Given the description of an element on the screen output the (x, y) to click on. 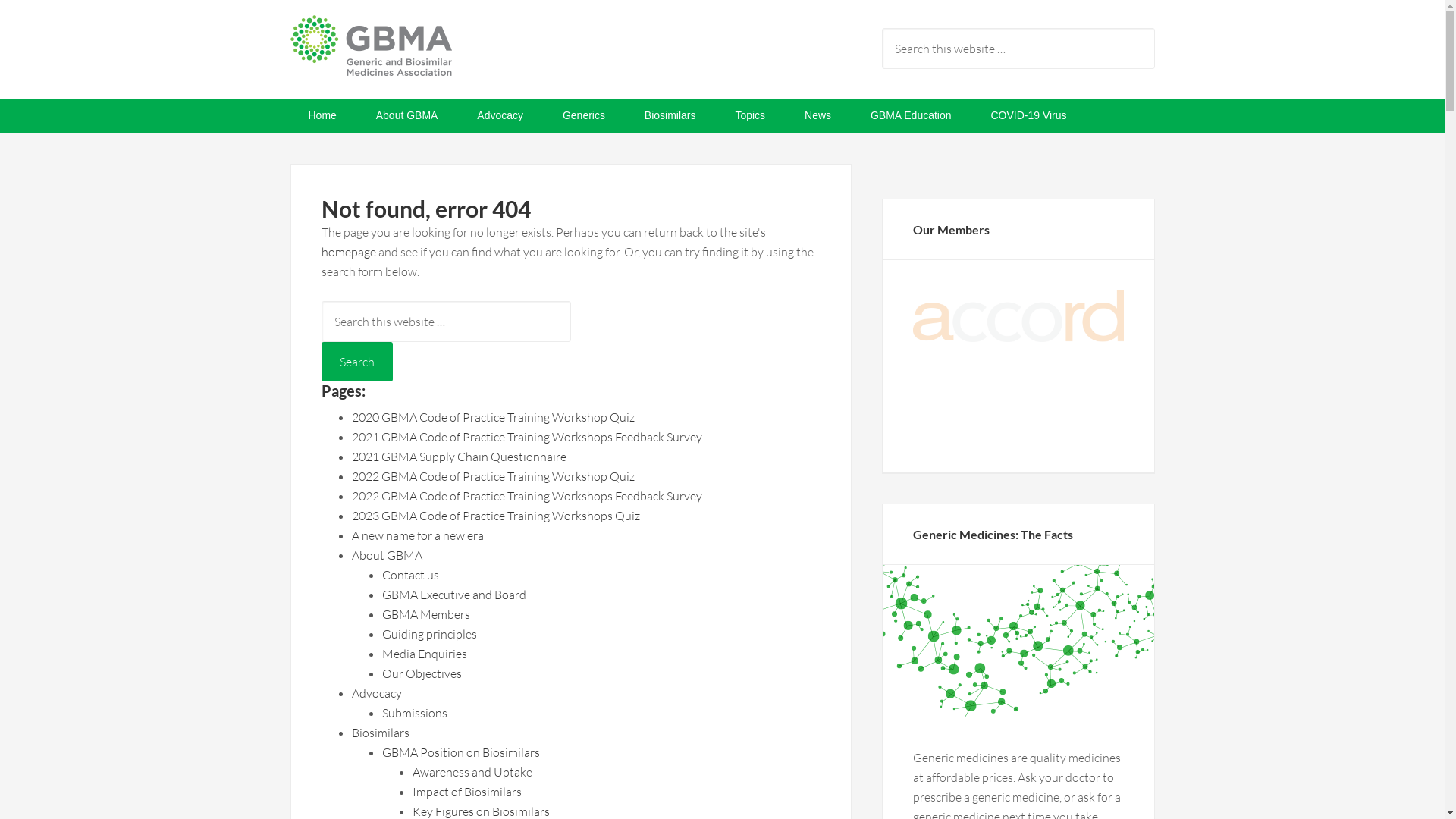
Our Objectives Element type: text (421, 672)
2020 GBMA Code of Practice Training Workshop Quiz Element type: text (492, 416)
Submissions Element type: text (414, 712)
GBMA Education Element type: text (910, 115)
Media Enquiries Element type: text (424, 653)
About GBMA Element type: text (406, 115)
2023 GBMA Code of Practice Training Workshops Quiz Element type: text (495, 515)
News Element type: text (817, 115)
GBMA Position on Biosimilars Element type: text (460, 751)
Contact us Element type: text (410, 574)
Search Element type: text (1154, 27)
Search Element type: text (356, 361)
GBMA Members Element type: text (426, 613)
Generic Biosimilar Medicines Association Element type: text (410, 53)
homepage Element type: text (348, 251)
Guiding principles Element type: text (429, 633)
2022 GBMA Code of Practice Training Workshop Quiz Element type: text (492, 475)
COVID-19 Virus Element type: text (1028, 115)
Awareness and Uptake Element type: text (472, 771)
Impact of Biosimilars Element type: text (466, 791)
GBMA Executive and Board Element type: text (454, 594)
About GBMA Element type: text (386, 554)
Generics Element type: text (583, 115)
Biosimilars Element type: text (380, 732)
Advocacy Element type: text (499, 115)
Advocacy Element type: text (376, 692)
2021 GBMA Supply Chain Questionnaire Element type: text (458, 456)
A new name for a new era Element type: text (417, 534)
Home Element type: text (321, 115)
Topics Element type: text (749, 115)
Biosimilars Element type: text (670, 115)
